Given the description of an element on the screen output the (x, y) to click on. 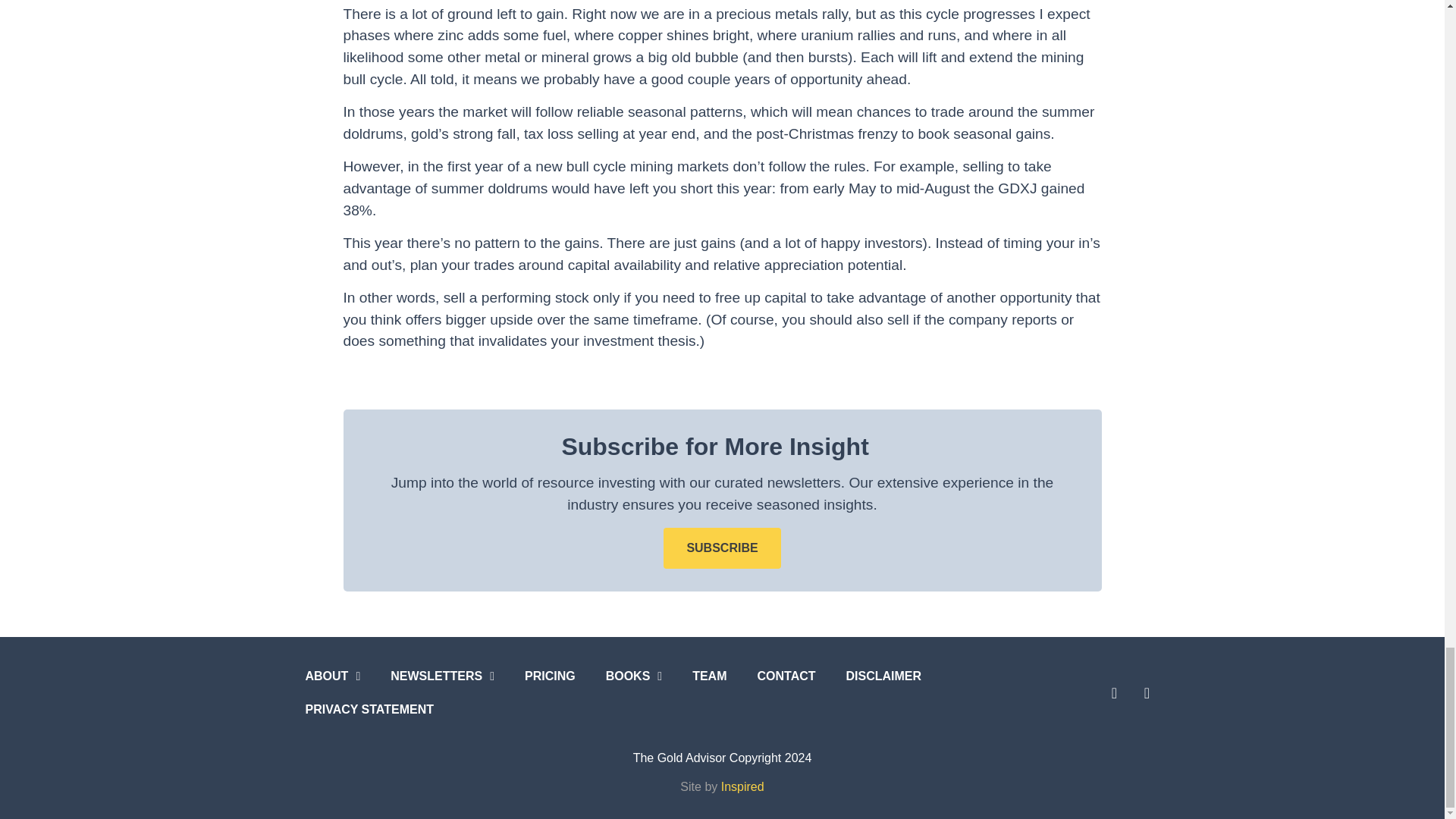
SUBSCRIBE (721, 547)
